Given the description of an element on the screen output the (x, y) to click on. 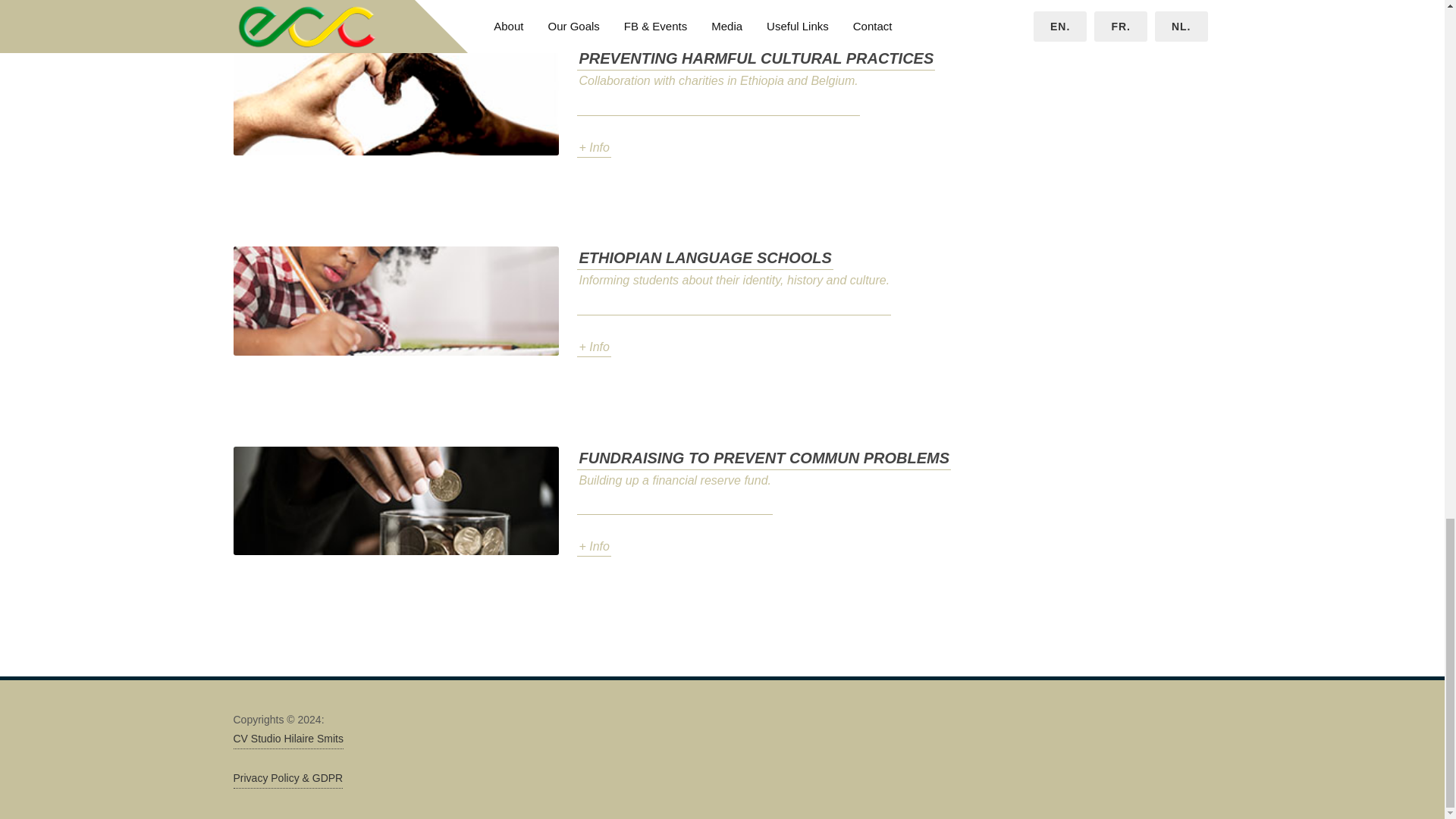
CV Studio Hilaire Smits (287, 739)
Collaboration with charities in Ethiopia and Belgium. (717, 93)
FUNDRAISING TO PREVENT COMMUN PROBLEMS (763, 458)
ETHIOPIAN LANGUAGE SCHOOLS (704, 258)
Building up a financial reserve fund. (674, 492)
PREVENTING HARMFUL CULTURAL PRACTICES (755, 58)
